Given the description of an element on the screen output the (x, y) to click on. 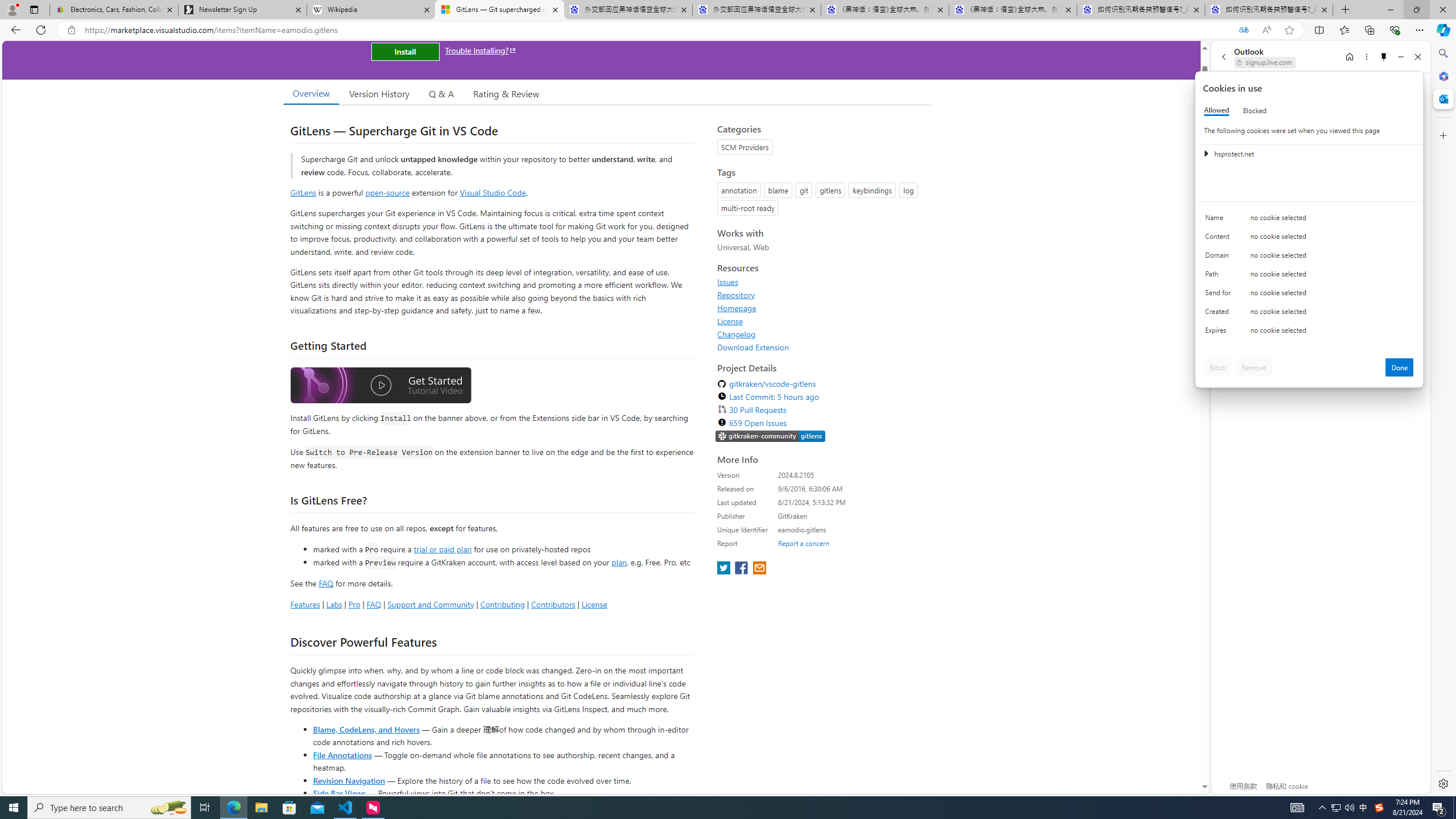
Watch the GitLens Getting Started video (380, 385)
FAQ (373, 603)
Path (1219, 276)
Blocked (1255, 110)
plan (618, 562)
share extension on facebook (742, 568)
share extension on twitter (724, 568)
Issues (727, 281)
Domain (1219, 257)
Download Extension (820, 346)
